Given the description of an element on the screen output the (x, y) to click on. 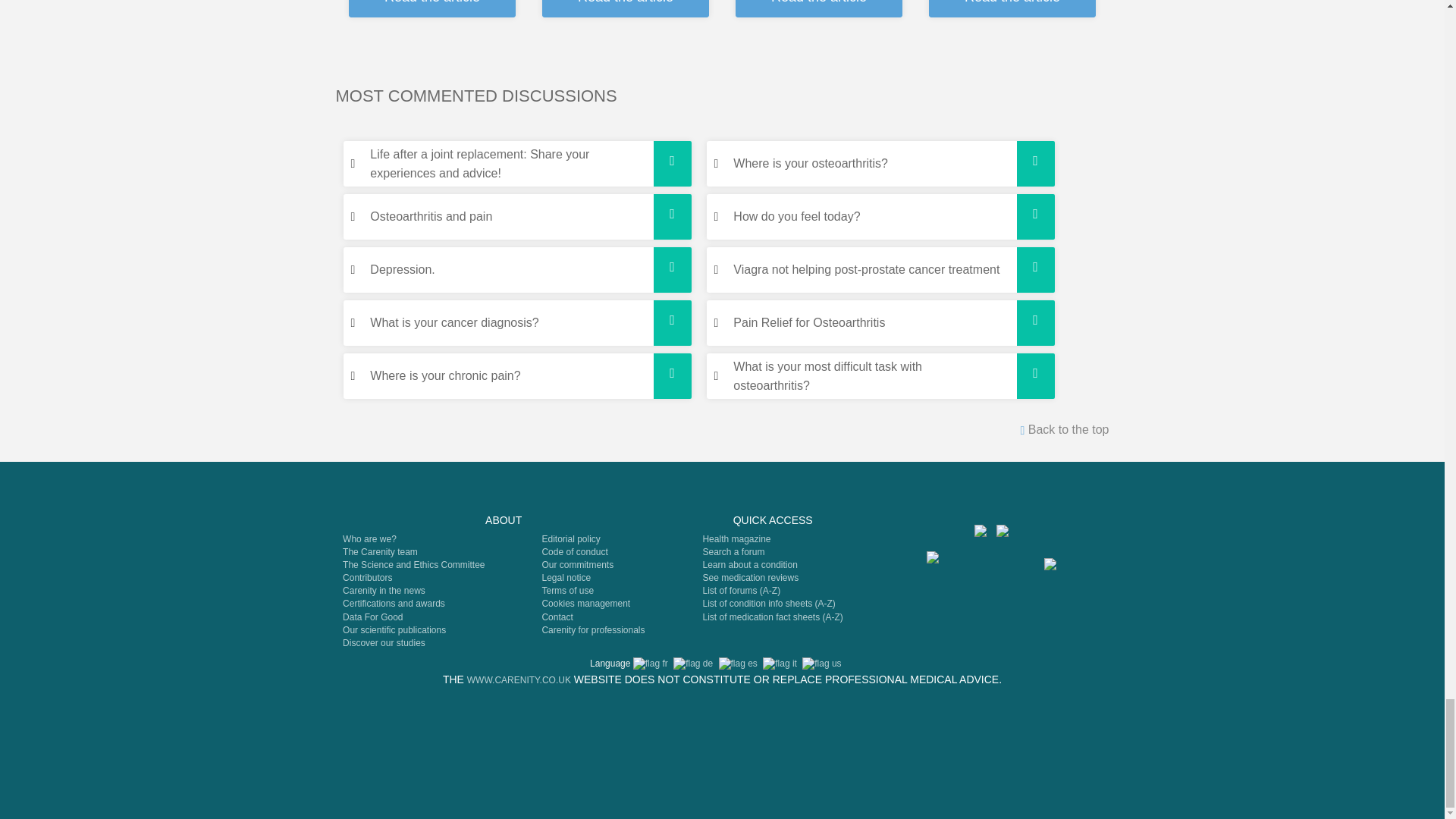
French (650, 663)
German (692, 663)
Spanish (738, 663)
